Given the description of an element on the screen output the (x, y) to click on. 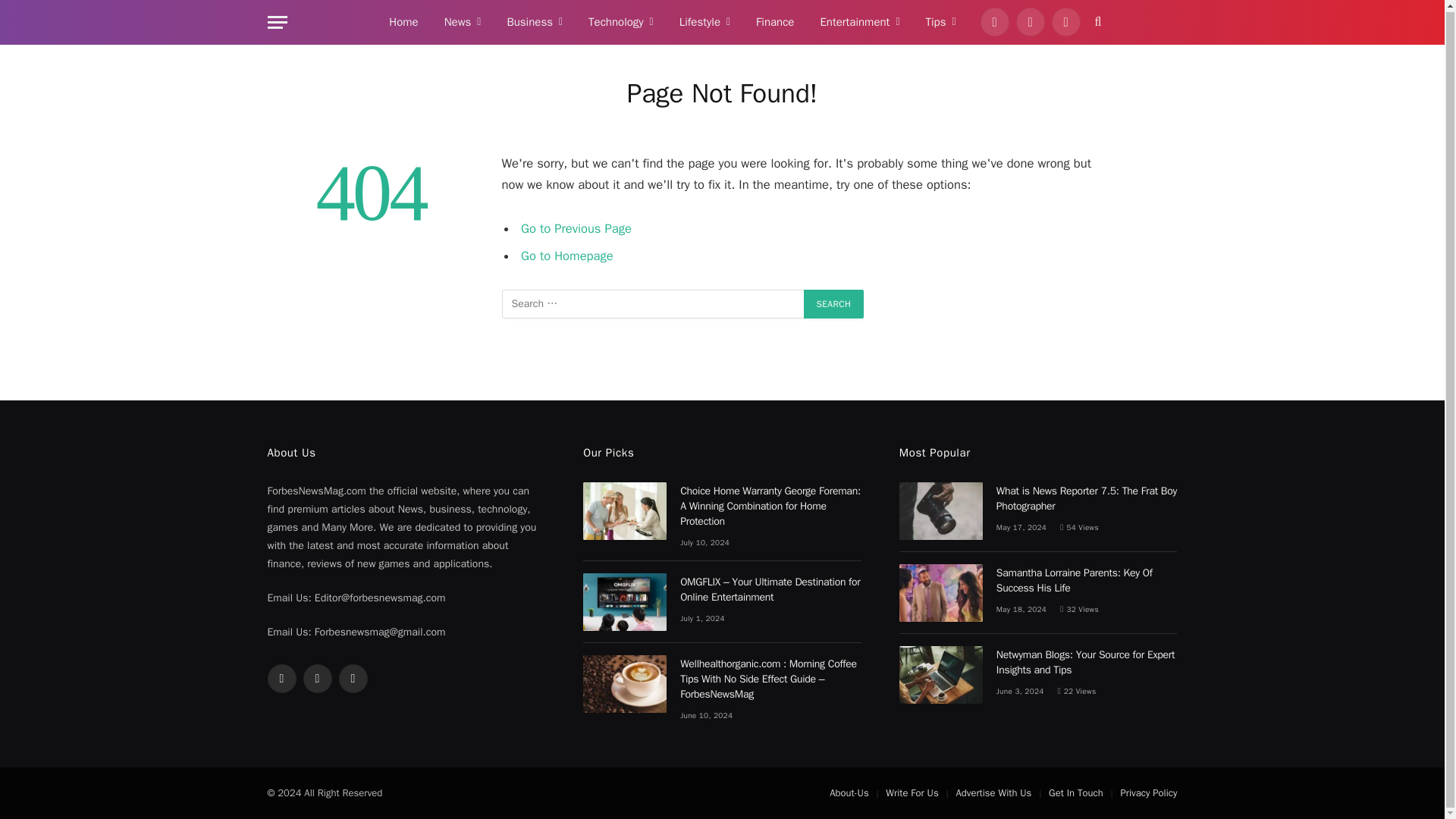
Business (534, 22)
Home (402, 22)
News (462, 22)
Search (833, 303)
Search (833, 303)
